Given the description of an element on the screen output the (x, y) to click on. 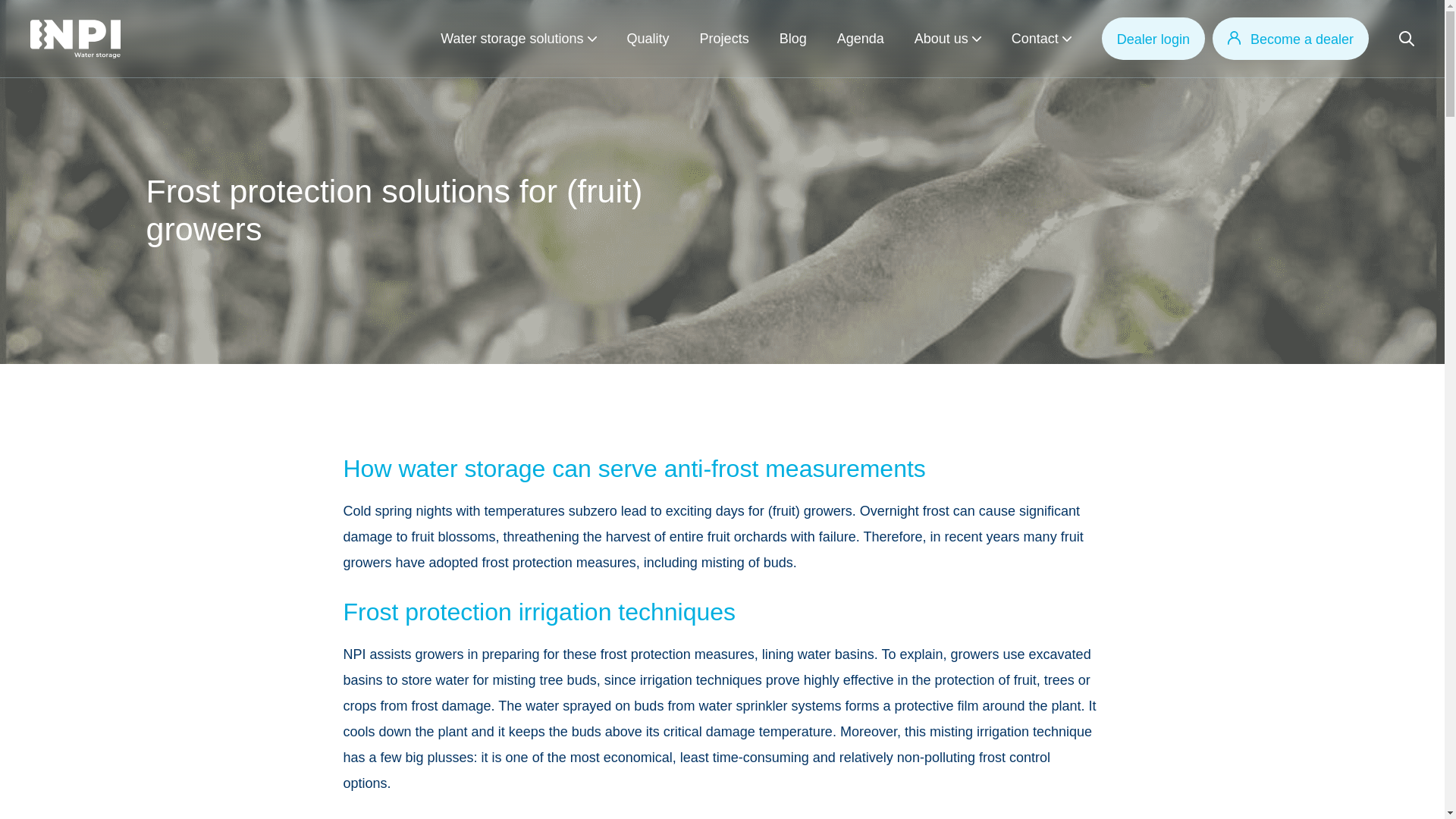
Agenda (860, 37)
Quality (648, 37)
About us (941, 38)
Dealer login (1153, 38)
Contact (1034, 38)
Become a dealer (1290, 38)
Dealer login (1153, 38)
Become a dealer (1290, 38)
Projects (724, 37)
Blog (792, 37)
Water storage solutions (512, 38)
